Given the description of an element on the screen output the (x, y) to click on. 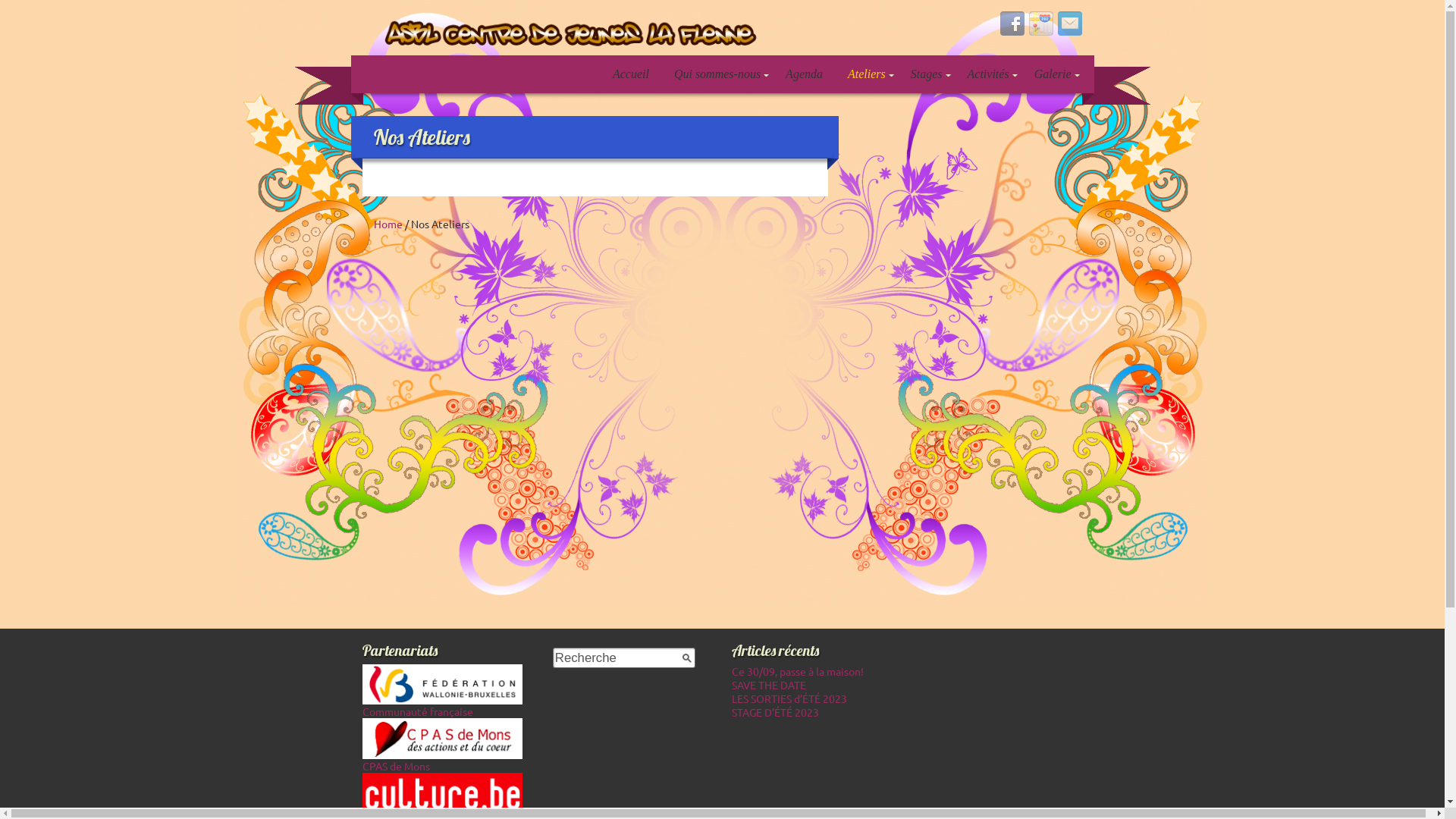
Stages Element type: text (926, 74)
Accueil Element type: text (630, 74)
Ateliers Element type: text (866, 74)
Qui sommes-nous Element type: text (716, 74)
Submit search Element type: text (686, 657)
CPAS de Mons Element type: text (442, 751)
SAVE THE DATE Element type: text (768, 684)
Galerie Element type: text (1052, 74)
Agenda Element type: text (804, 74)
Home Element type: text (387, 223)
